Given the description of an element on the screen output the (x, y) to click on. 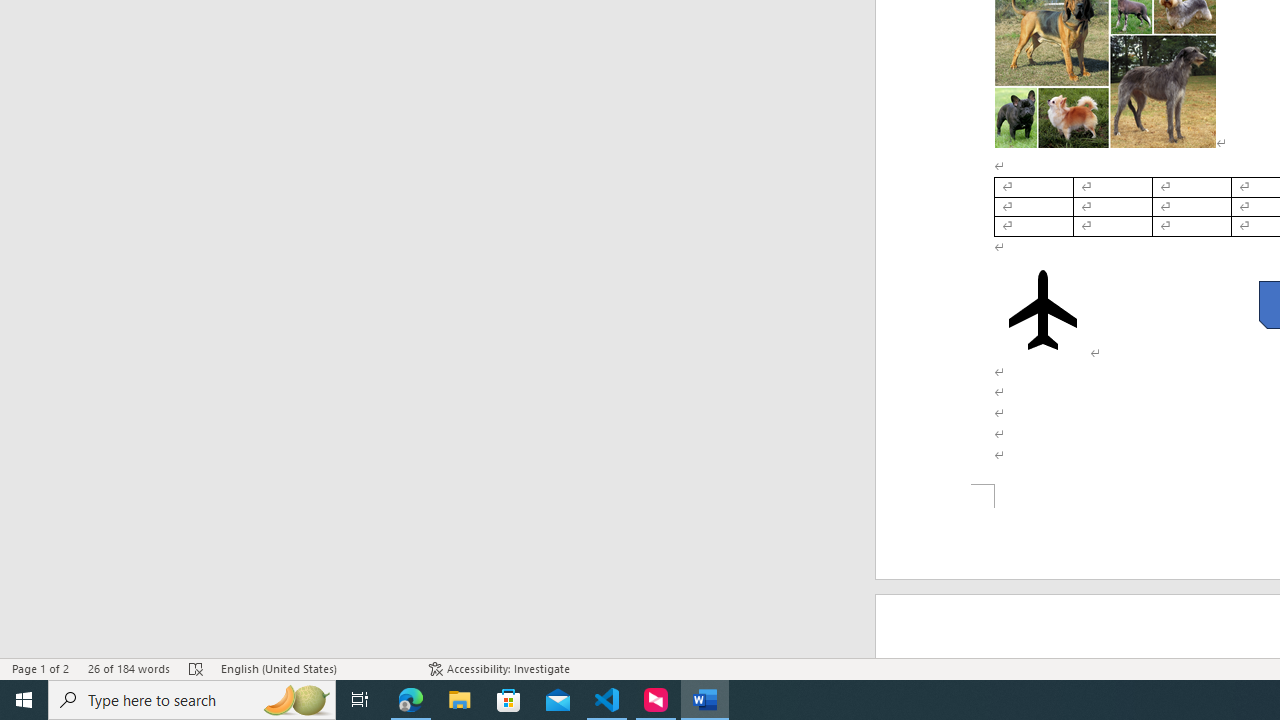
Accessibility Checker Accessibility: Investigate (499, 668)
Page Number Page 1 of 2 (39, 668)
Language English (United States) (315, 668)
Spelling and Grammar Check Errors (196, 668)
Airplane with solid fill (1042, 309)
